Given the description of an element on the screen output the (x, y) to click on. 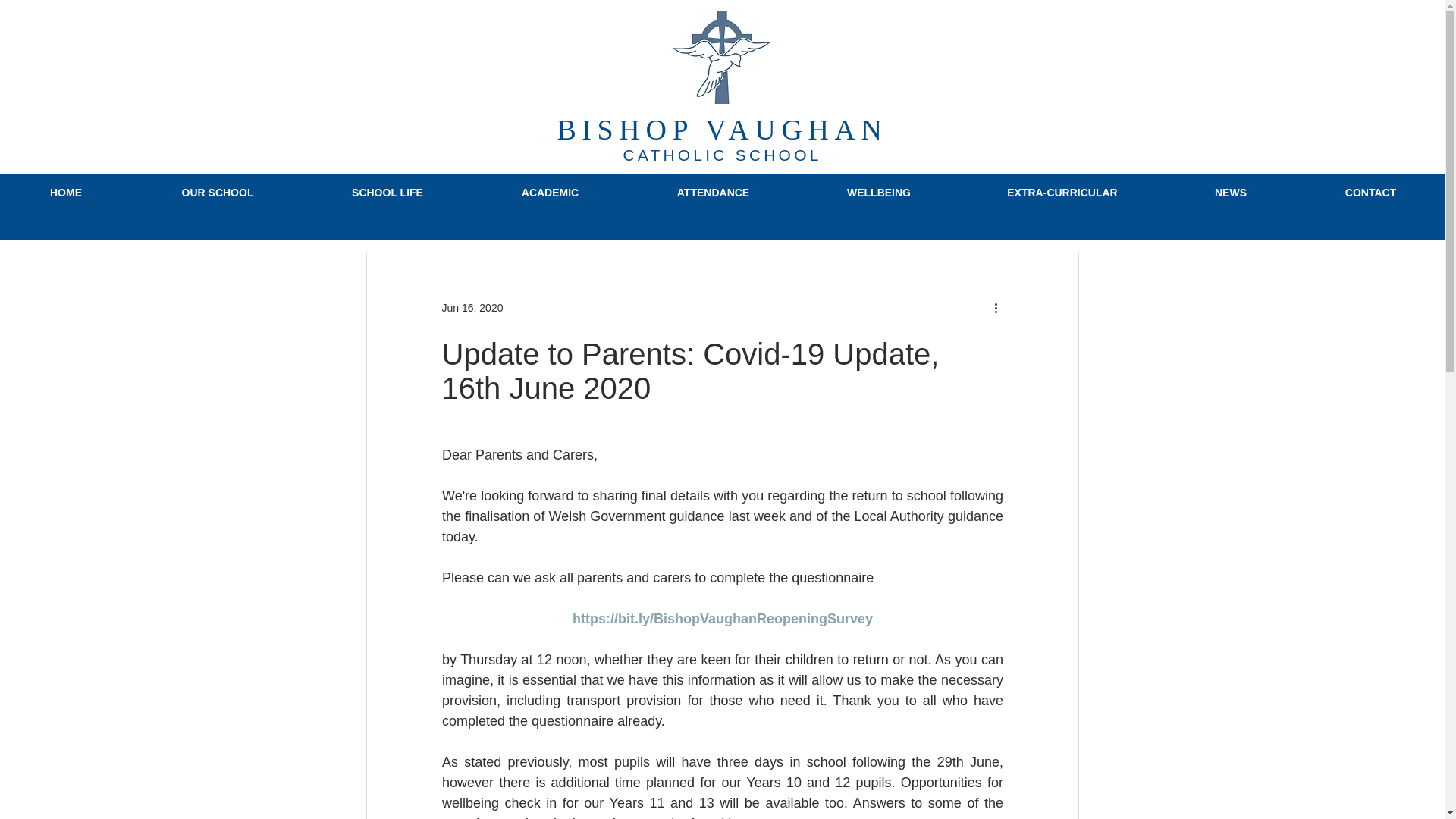
Year 8 (577, 206)
BISHOP VAUGHAN (721, 129)
Headteacher's Blog (941, 206)
CATHOLIC SCHOOL (722, 154)
Primary (453, 206)
Year 7 (515, 206)
Year 9 (637, 206)
Sixth Form (841, 206)
All Posts (385, 206)
Year 10 (700, 206)
